Given the description of an element on the screen output the (x, y) to click on. 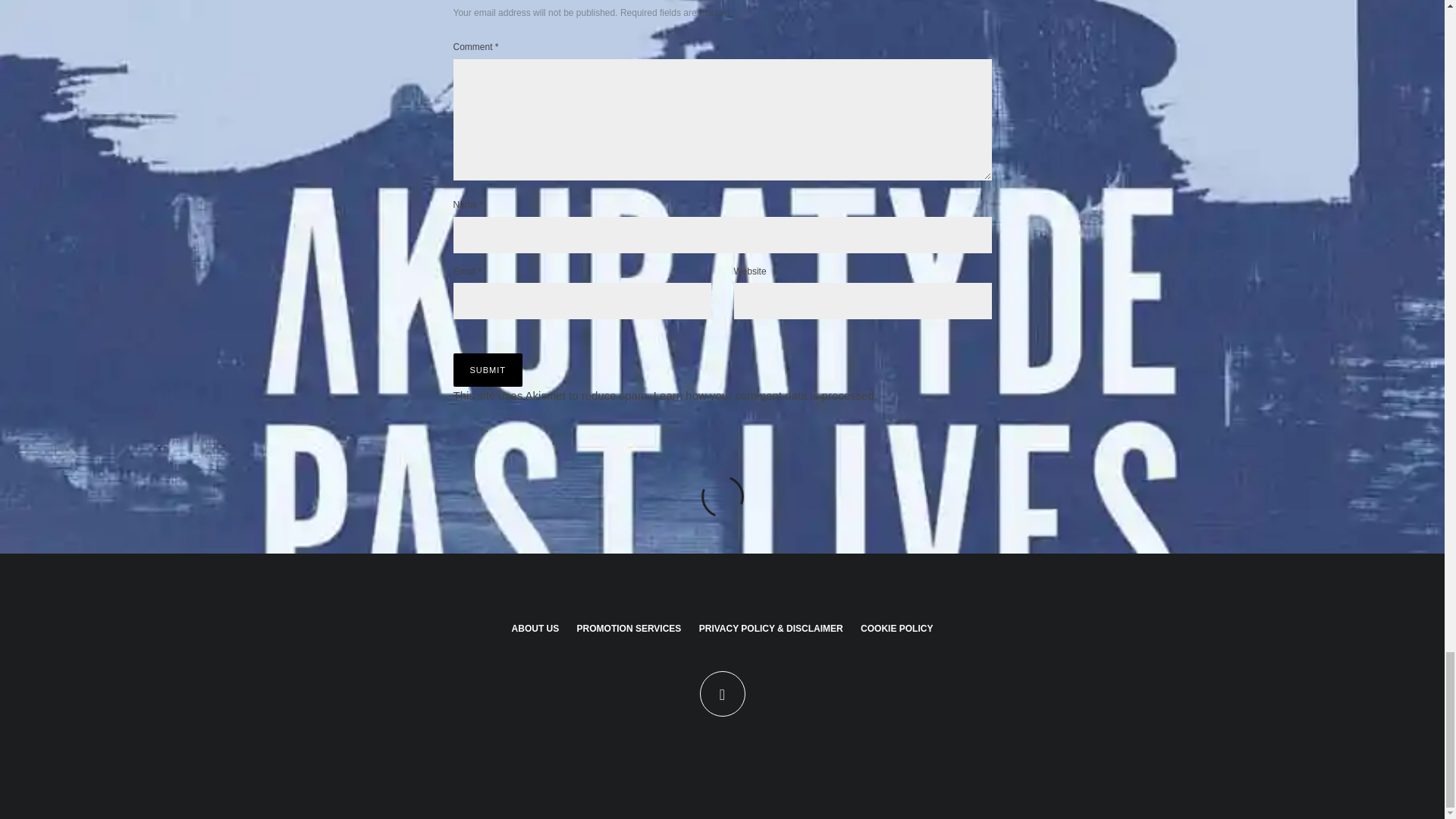
Submit (487, 369)
